Given the description of an element on the screen output the (x, y) to click on. 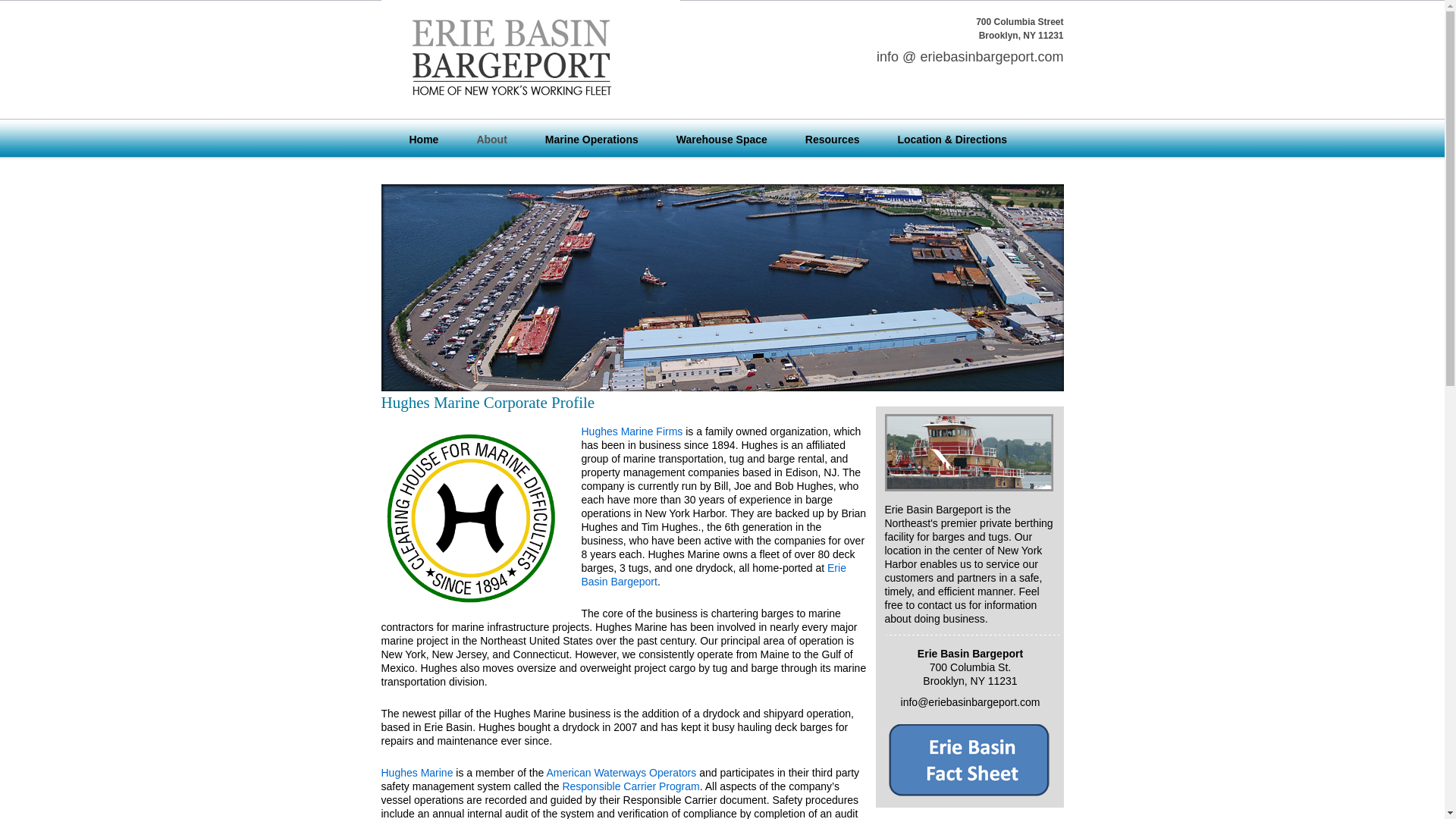
Erie Basin Bargeport (712, 574)
American Waterways Operators (620, 771)
Hughes Marine Logo (471, 518)
Hughes Marine (416, 771)
Warehouse Space (721, 139)
Hughes Marine Firms (631, 430)
Home (423, 139)
About (490, 139)
Responsible Carrier Program (630, 785)
Resources (832, 139)
Marine Operations (591, 139)
